Given the description of an element on the screen output the (x, y) to click on. 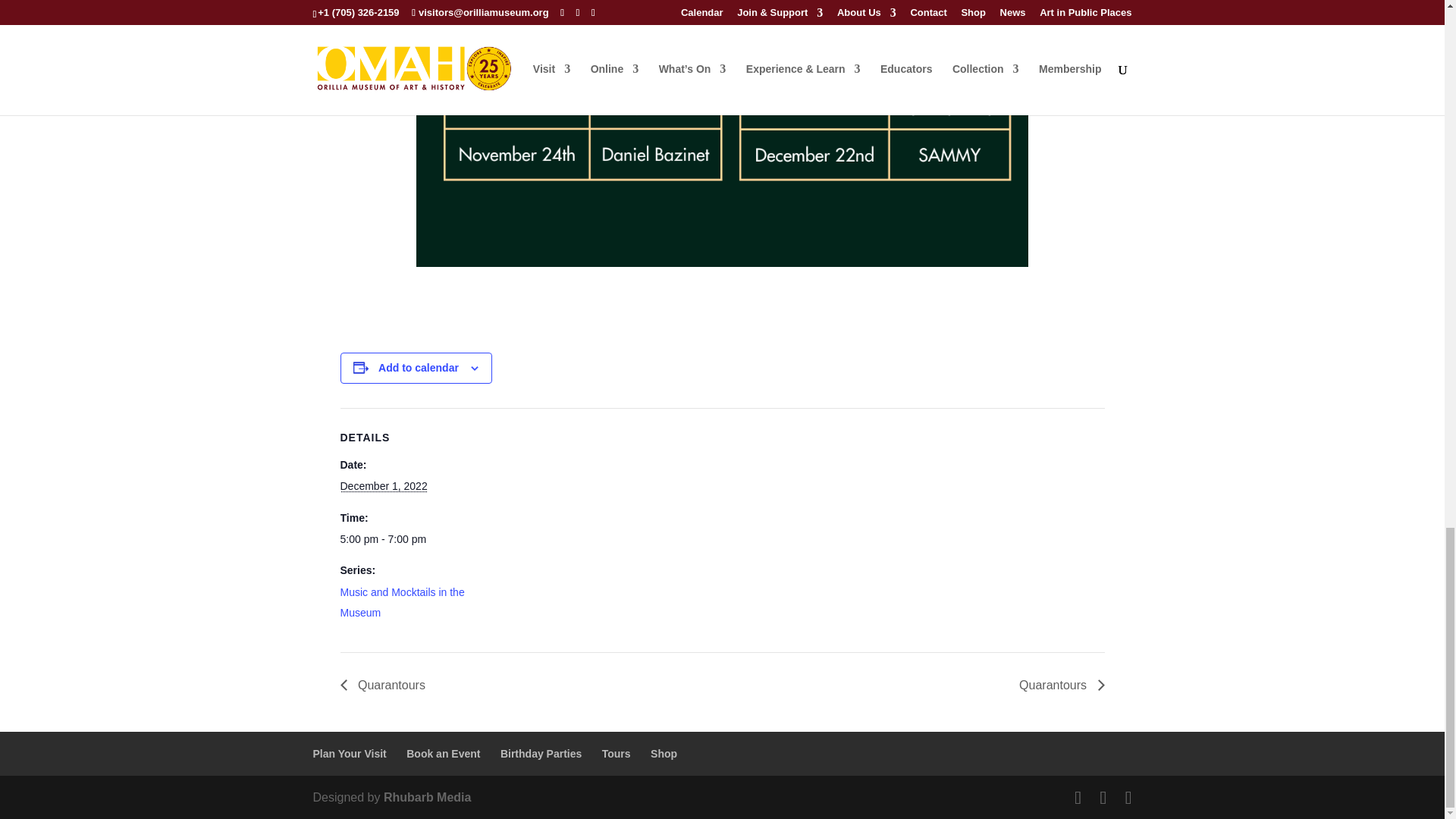
Opens in new tab (663, 753)
2022-12-01 (382, 485)
Music and Mocktails in the Museum (401, 602)
Rhubarb Media (427, 797)
2022-12-01 (403, 539)
